Given the description of an element on the screen output the (x, y) to click on. 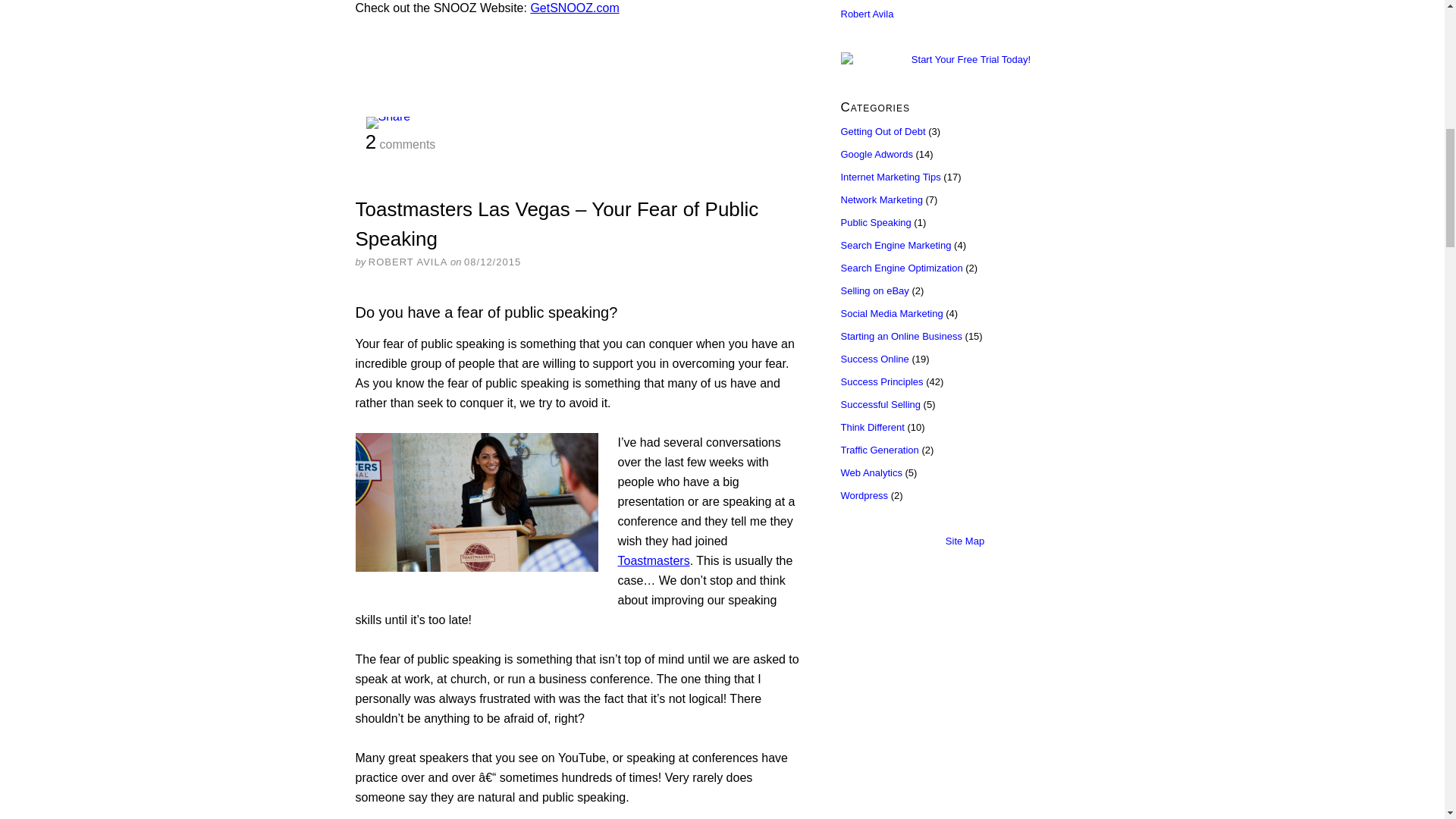
Toastmasters (652, 559)
GetSNOOZ.com (573, 7)
2 comments (400, 142)
2015-08-12 (492, 261)
Follow Me on twitter (866, 12)
Email Marketing (964, 58)
